Given the description of an element on the screen output the (x, y) to click on. 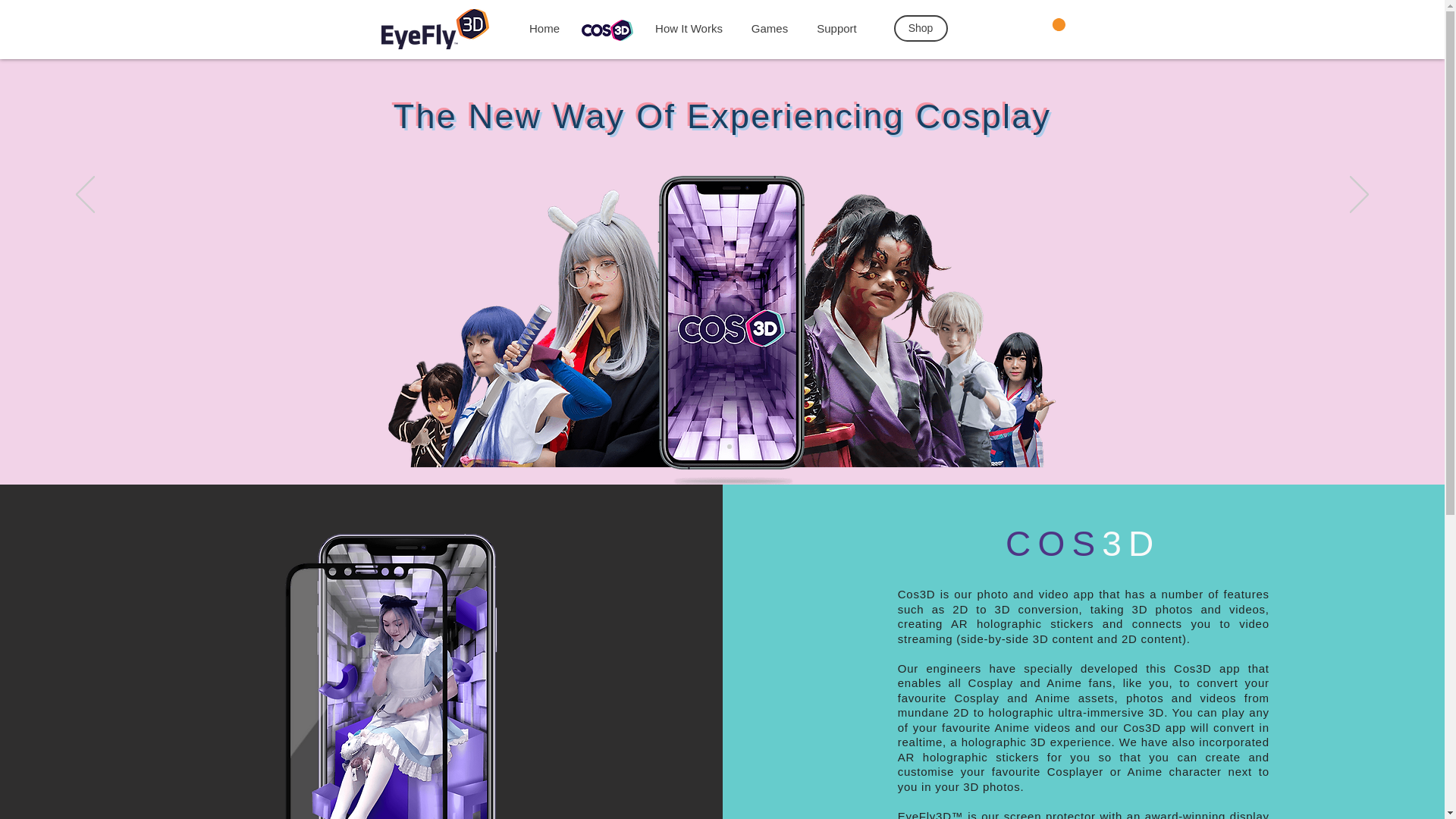
Shop (920, 28)
Cos 3D (608, 28)
Home (543, 28)
How It Works (689, 28)
Games (769, 28)
